Given the description of an element on the screen output the (x, y) to click on. 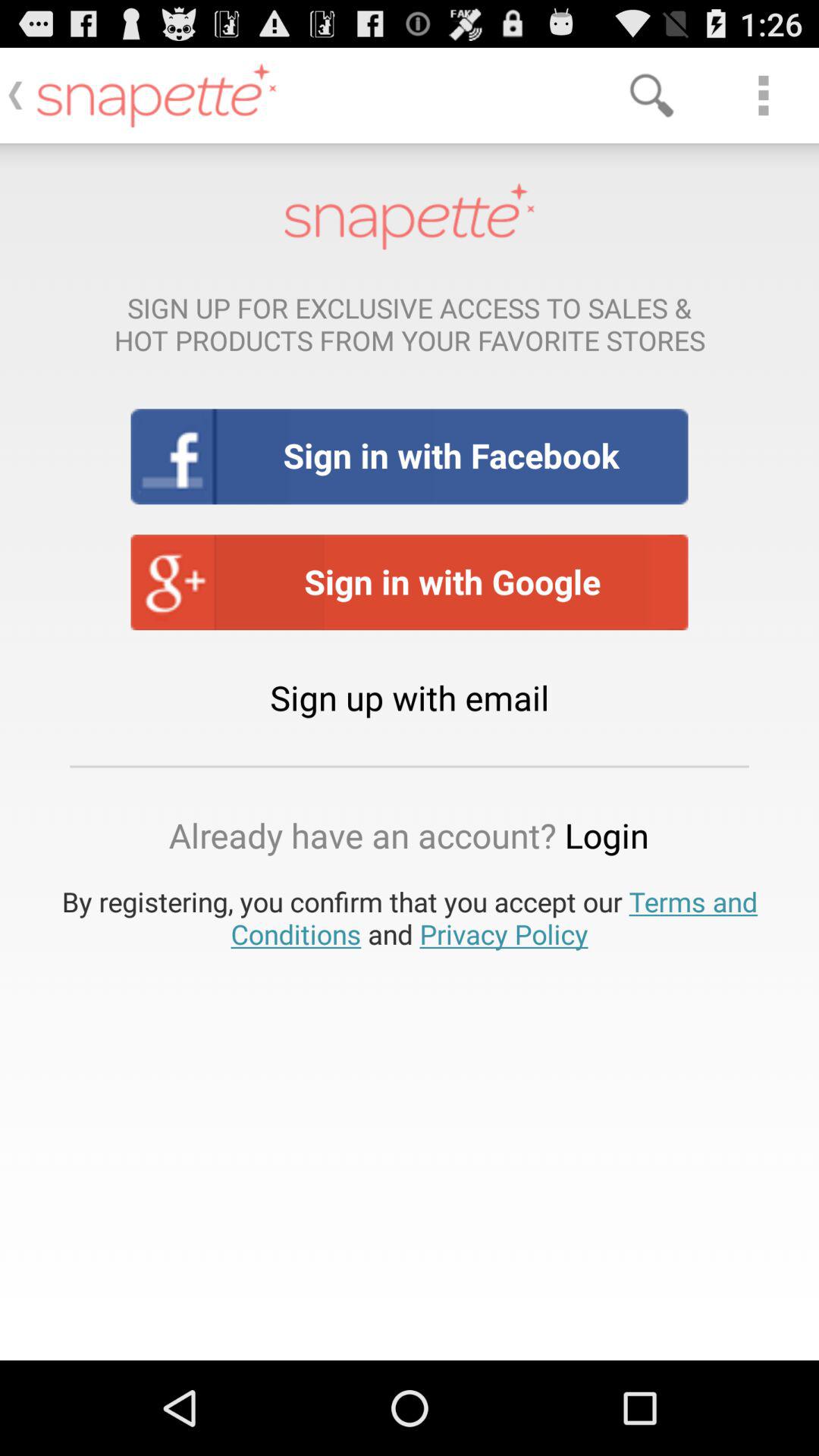
jump until the by registering you item (409, 917)
